Given the description of an element on the screen output the (x, y) to click on. 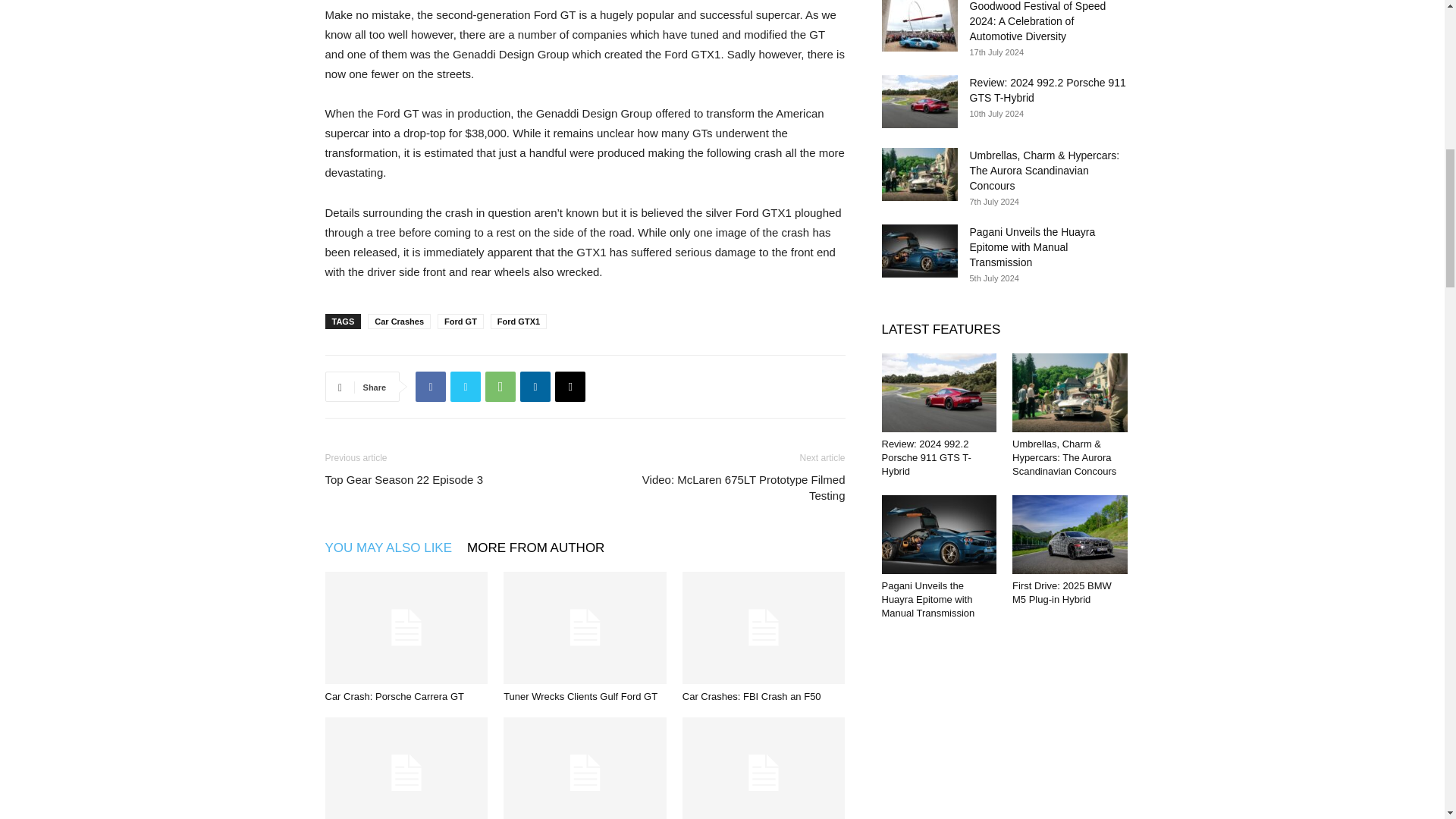
Twitter (464, 386)
Facebook (429, 386)
